Given the description of an element on the screen output the (x, y) to click on. 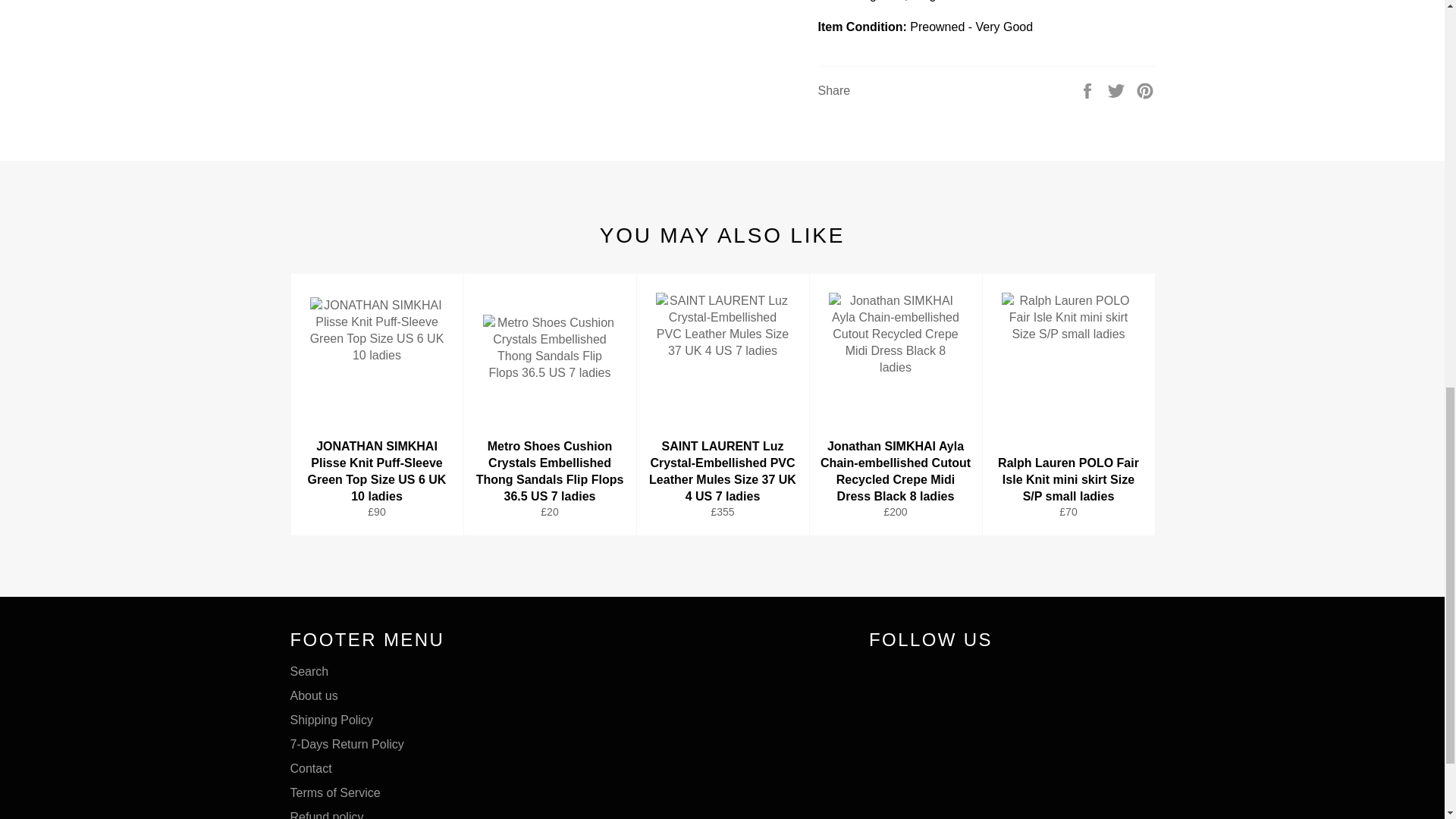
Pin on Pinterest (1144, 89)
Share on Facebook (1088, 89)
Tweet on Twitter (1117, 89)
